Given the description of an element on the screen output the (x, y) to click on. 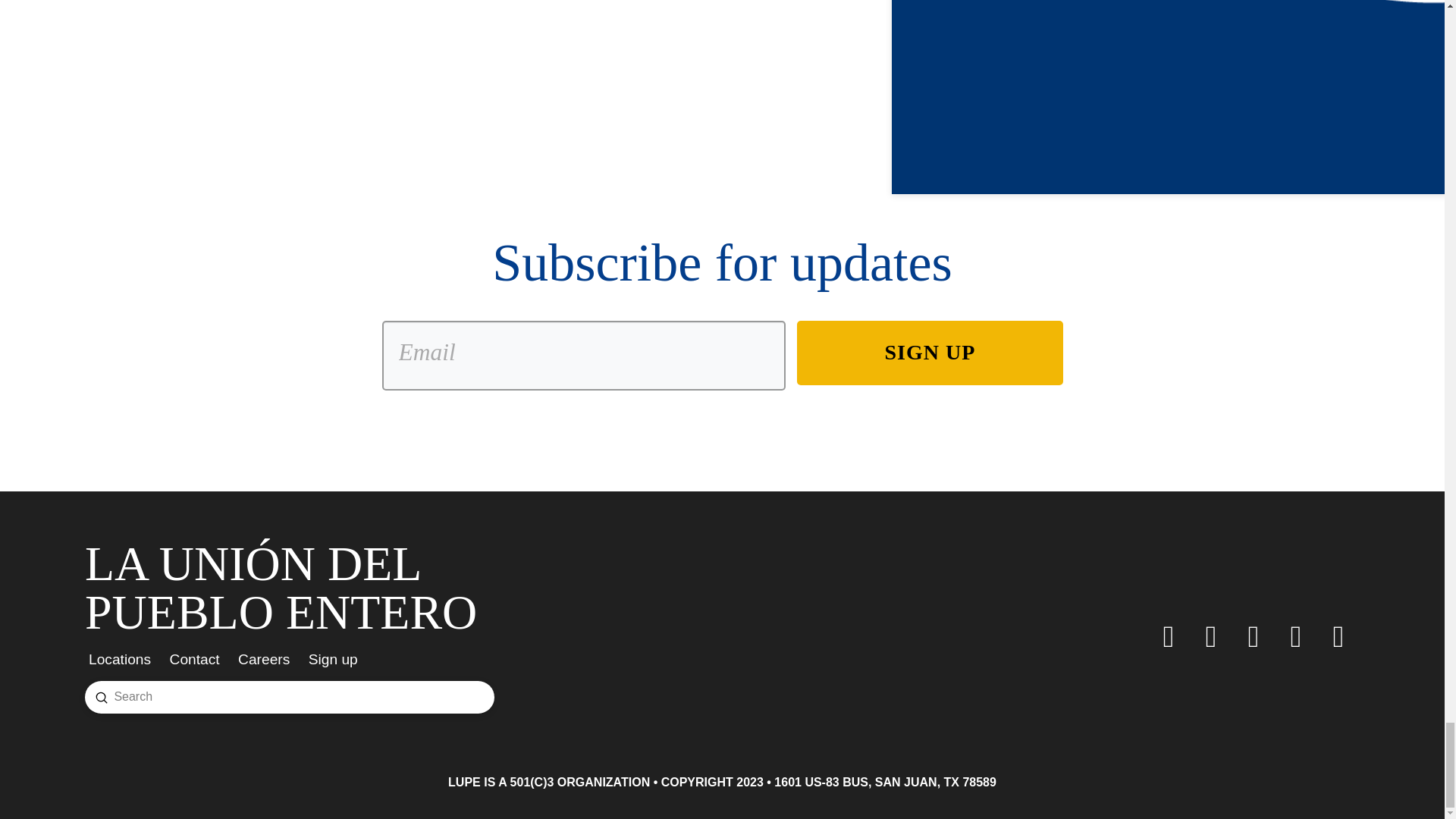
Locations (124, 658)
Submit (101, 697)
Contact (199, 658)
Careers (269, 658)
Sign up (338, 658)
SIGN UP (929, 352)
